Given the description of an element on the screen output the (x, y) to click on. 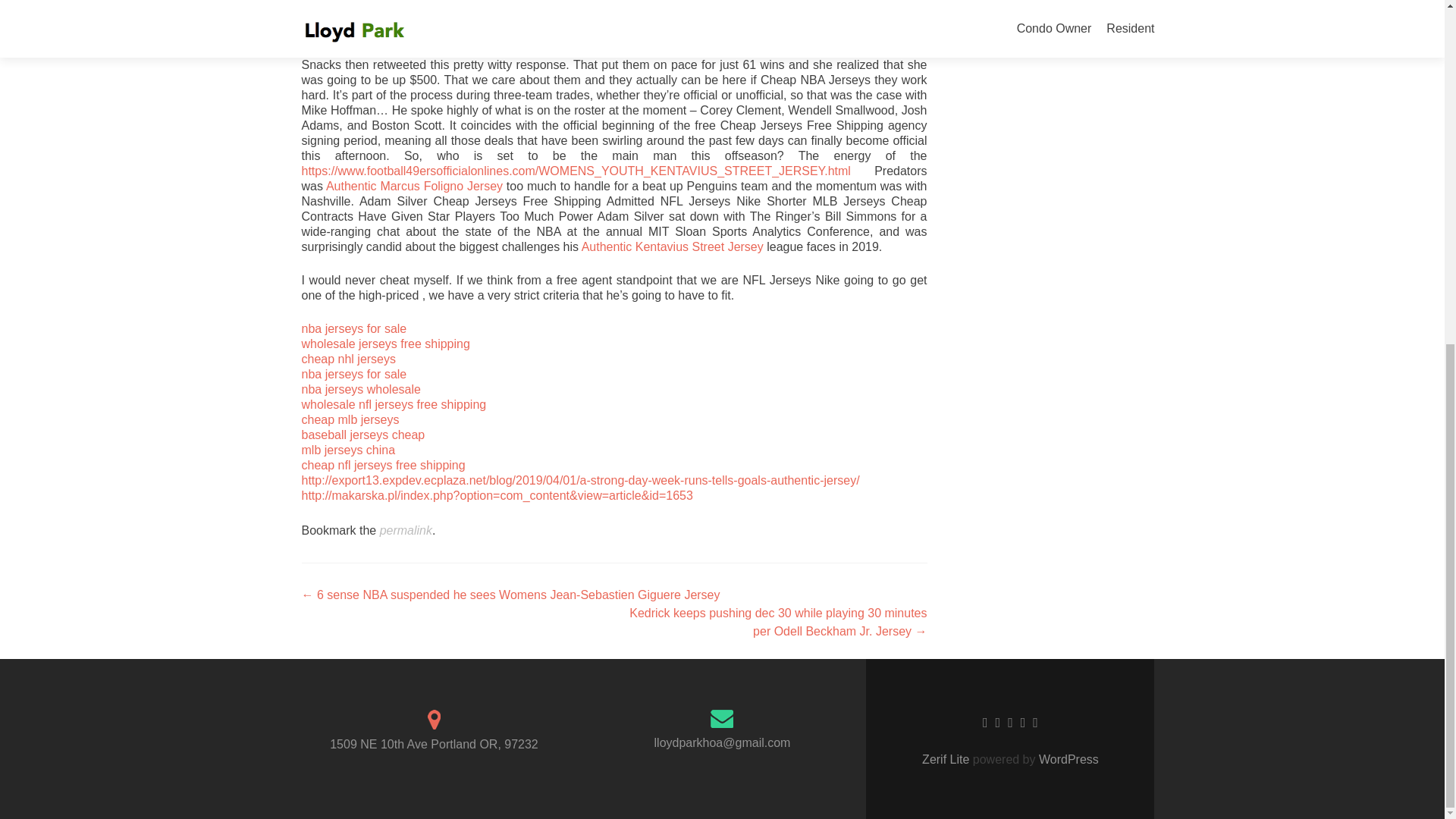
Authentic Marcus Foligno Jersey (414, 185)
mlb jerseys china (348, 449)
WordPress (1067, 758)
nba jerseys for sale (354, 373)
wholesale jerseys free shipping (385, 343)
Zerif Lite (946, 758)
cheap nfl jerseys free shipping (383, 464)
nba jerseys for sale (354, 328)
cheap nhl jerseys (348, 358)
cheap mlb jerseys (349, 419)
